Given the description of an element on the screen output the (x, y) to click on. 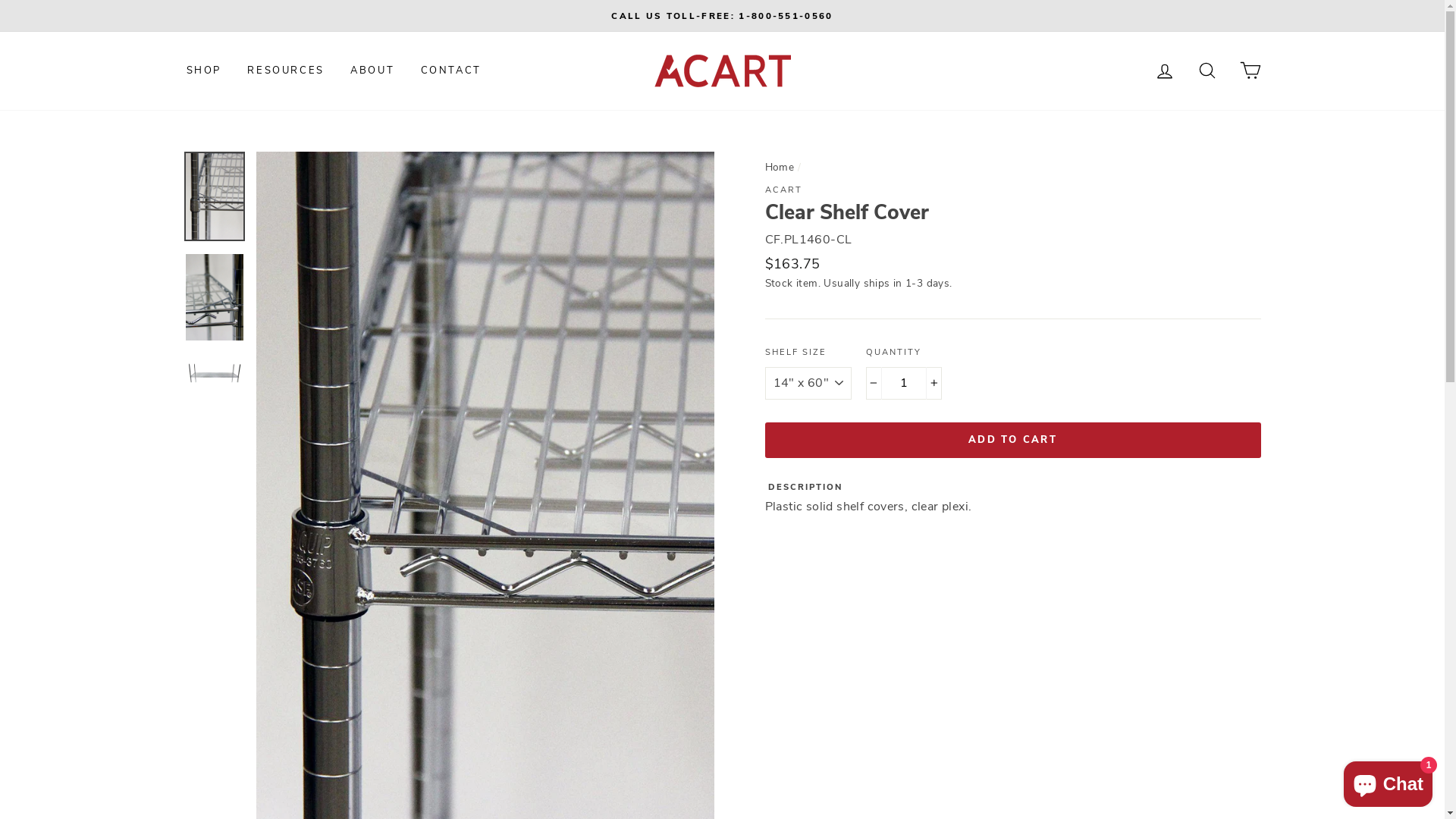
ABOUT Element type: text (371, 70)
Skip to content Element type: text (0, 0)
+ Element type: text (933, 383)
RESOURCES Element type: text (285, 70)
ACART Element type: text (782, 188)
SHOP Element type: text (203, 70)
Shopify online store chat Element type: hover (1388, 780)
CART Element type: text (1249, 70)
LOG IN Element type: text (1164, 70)
CONTACT Element type: text (450, 70)
SEARCH Element type: text (1206, 70)
Home Element type: text (778, 167)
ADD TO CART Element type: text (1012, 439)
